Given the description of an element on the screen output the (x, y) to click on. 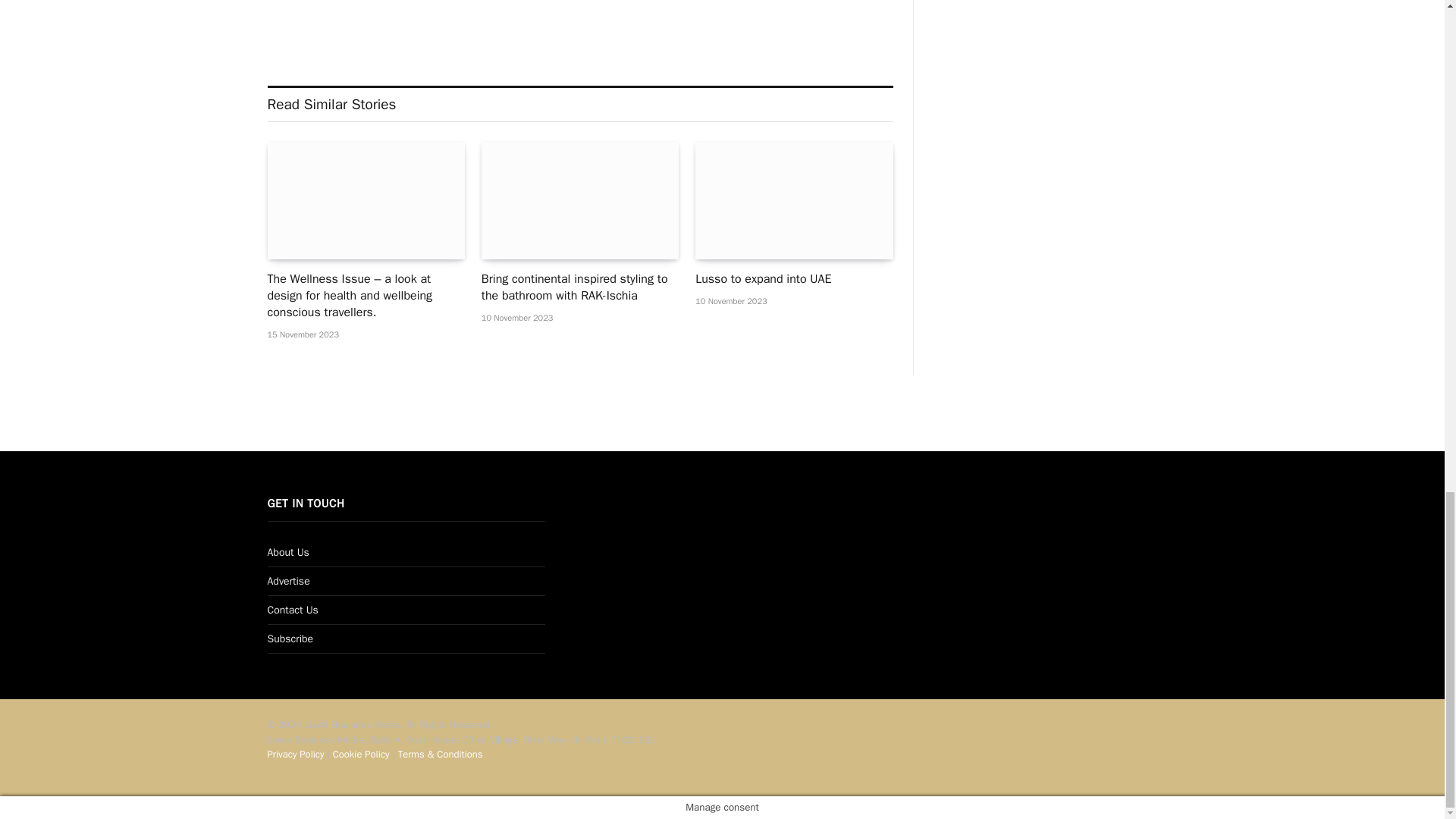
Lusso to expand into UAE (793, 200)
